Given the description of an element on the screen output the (x, y) to click on. 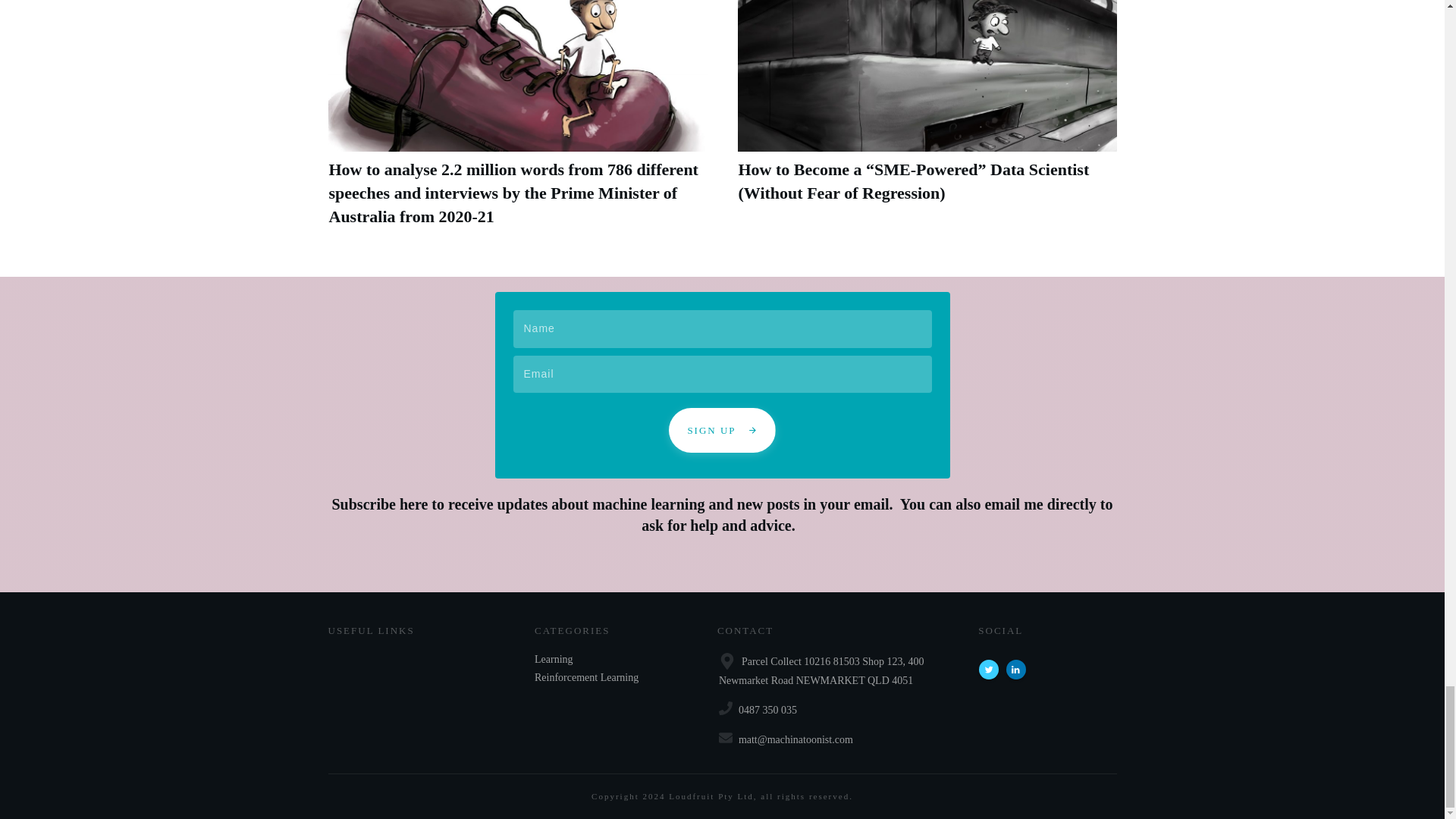
Learning (553, 659)
Reinforcement Learning (586, 677)
SIGN UP (721, 430)
